Given the description of an element on the screen output the (x, y) to click on. 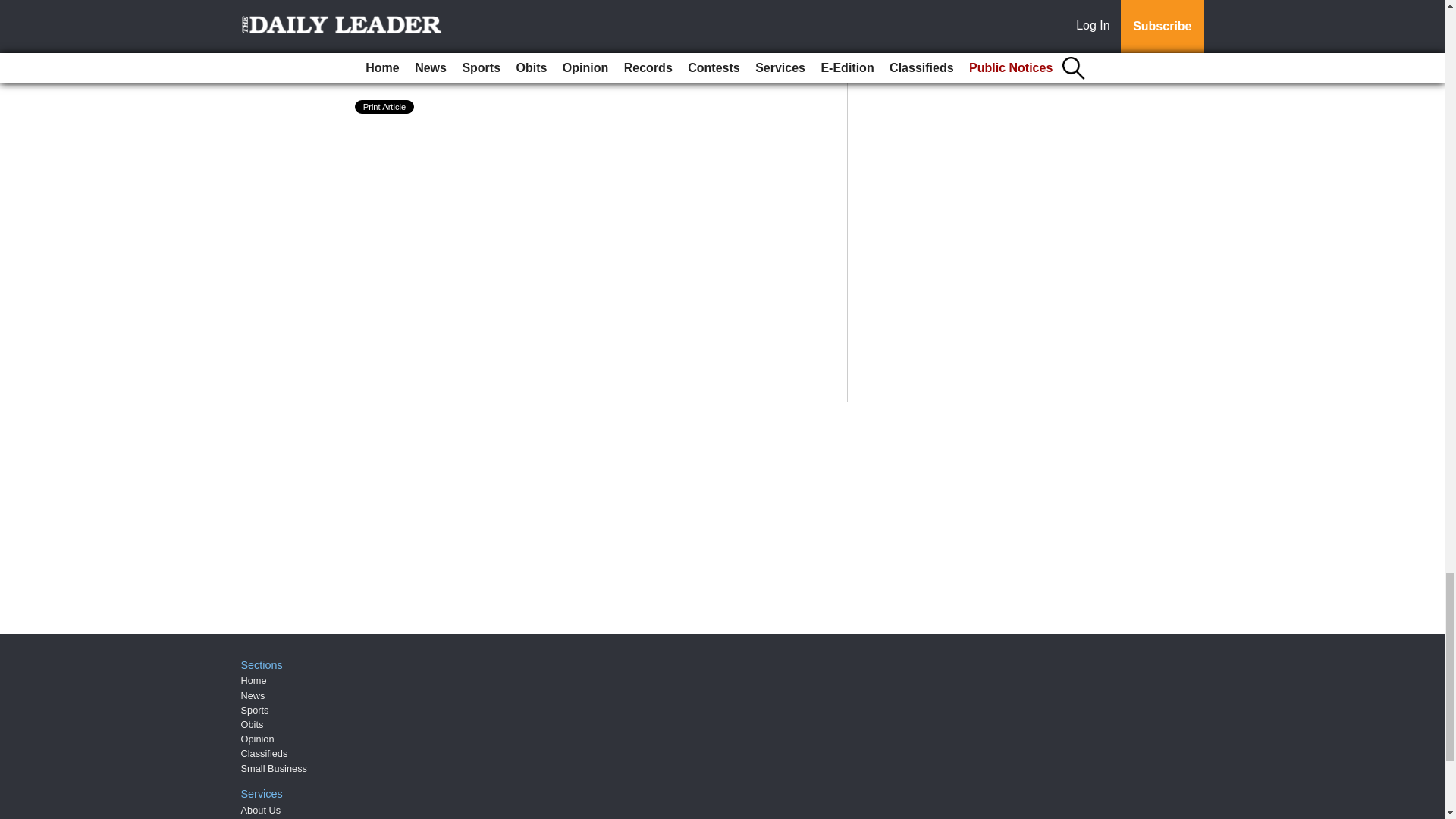
Print Article (384, 106)
